Given the description of an element on the screen output the (x, y) to click on. 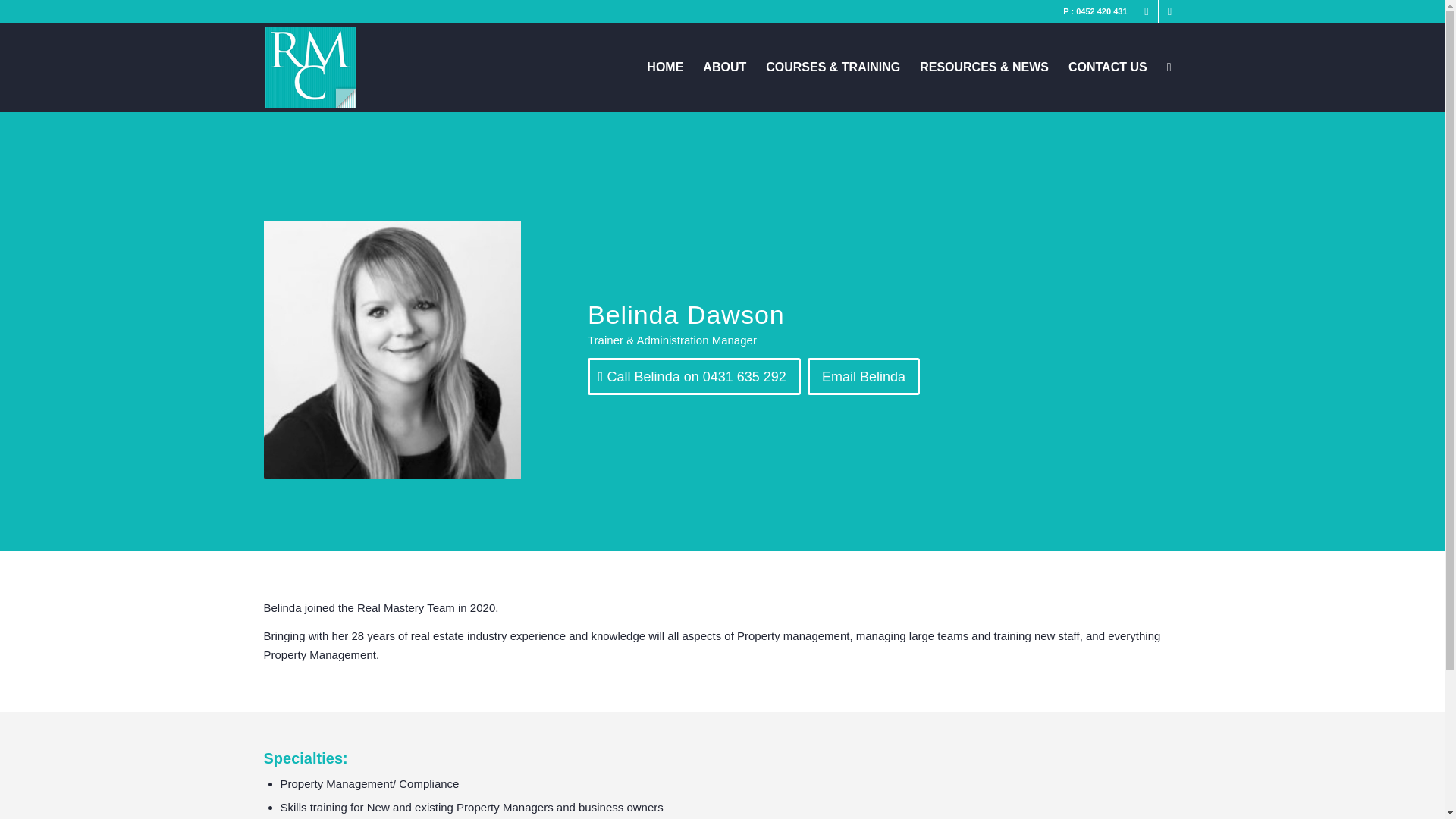
RealMastery LOGO (310, 67)
Call Belinda on 0431 635 292 (694, 376)
Email Belinda (864, 376)
belinda dawson (392, 350)
Mail (1169, 11)
LinkedIn (1146, 11)
CONTACT US (1107, 67)
